Given the description of an element on the screen output the (x, y) to click on. 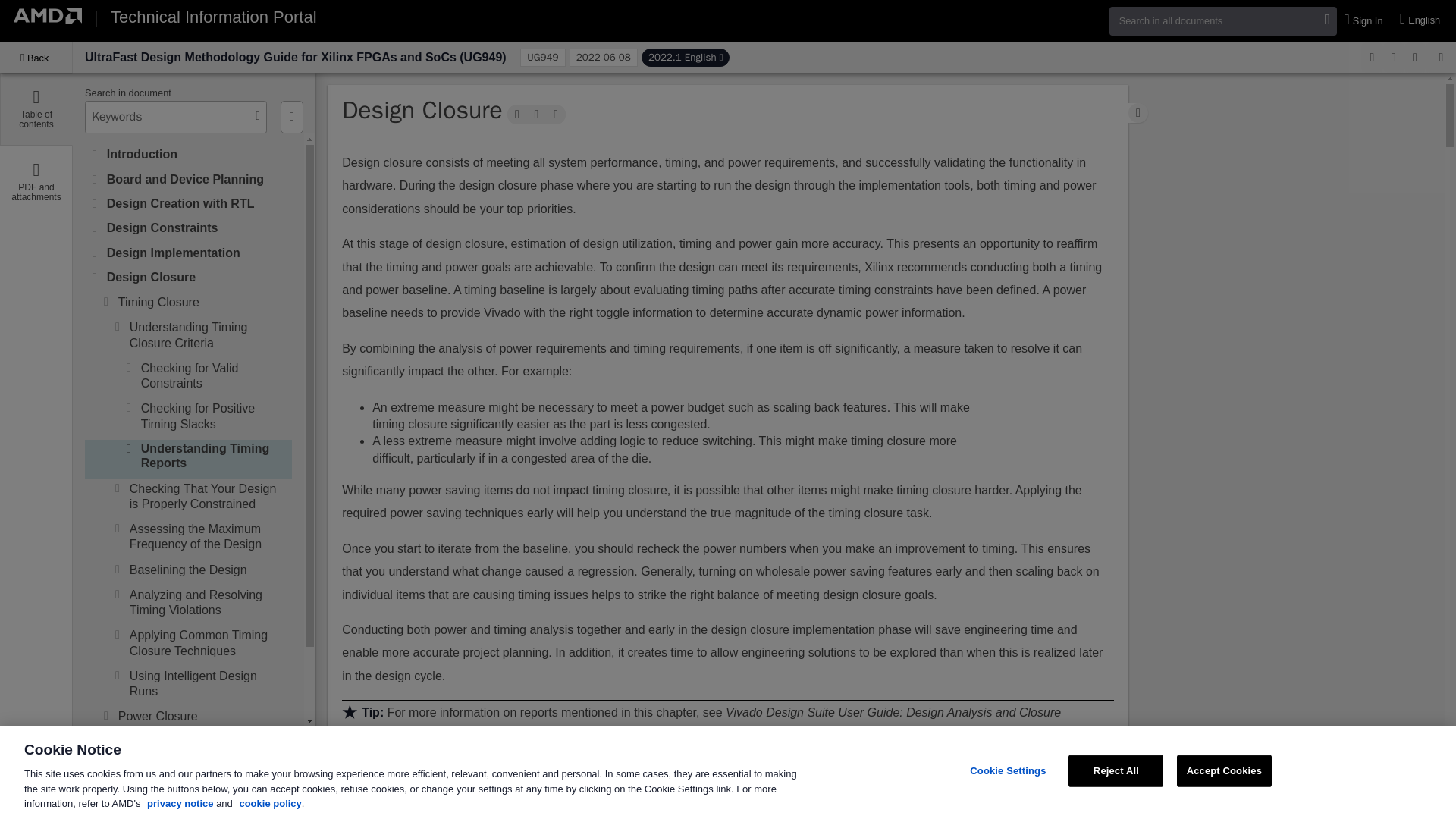
privacy notice (179, 803)
Sign In (1365, 21)
Technical Information Portal (212, 16)
Back (35, 57)
Document ID: UG949 (541, 57)
Cookie Settings (1007, 771)
Release Date: 2022-06-08 (603, 57)
AMD Inc (47, 15)
Reject All (1115, 771)
English (1421, 20)
English (1421, 20)
cookie policy (269, 803)
Search in all documents (1222, 20)
2022.1 English (685, 57)
Sign In (1365, 21)
